Given the description of an element on the screen output the (x, y) to click on. 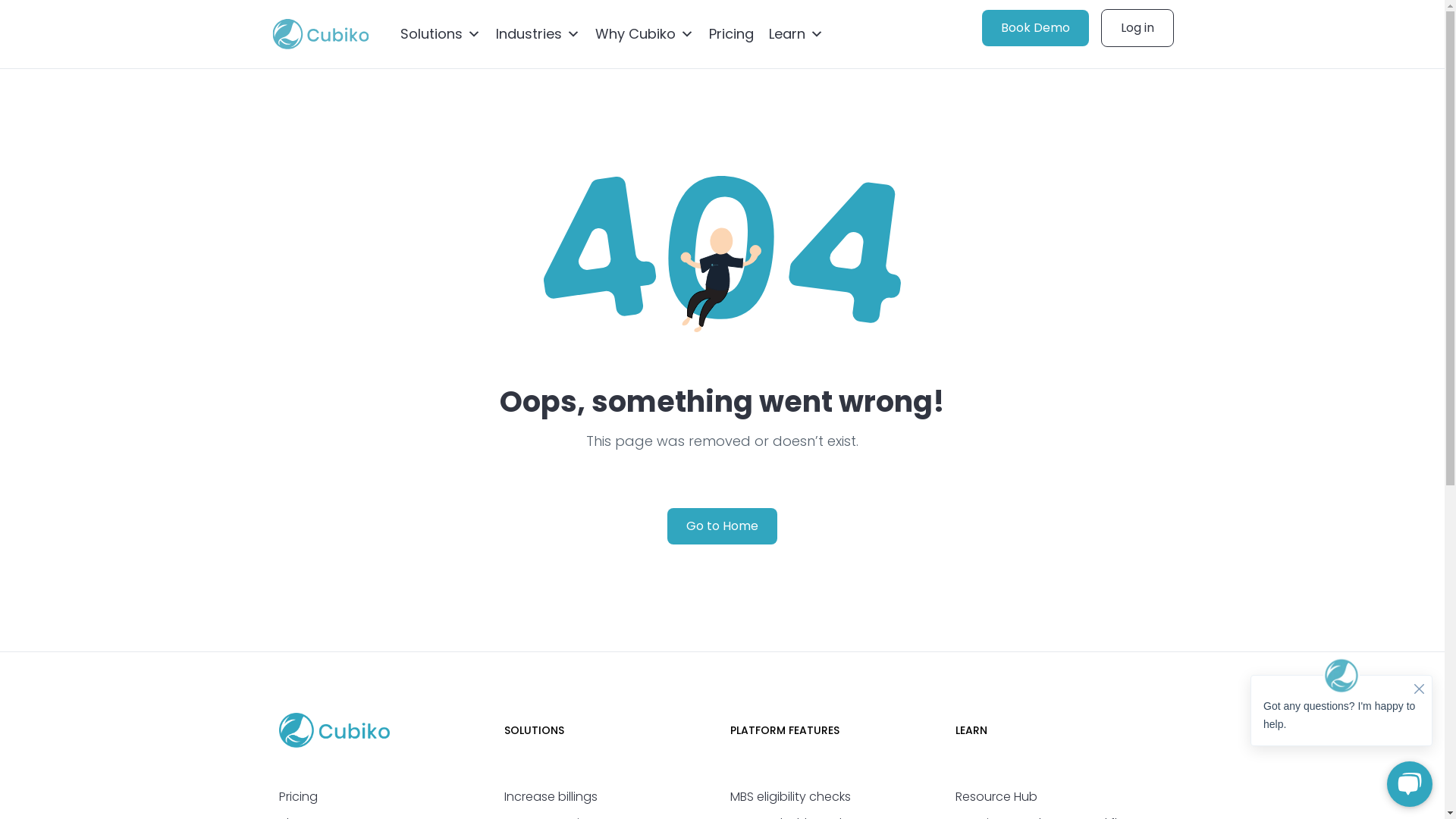
Solutions Element type: text (440, 33)
Learn Element type: text (796, 33)
Pricing Element type: text (298, 796)
Increase billings Element type: text (550, 796)
Book Demo Element type: text (1034, 27)
Go to Home Element type: text (722, 526)
Cubiko SVG logo Element type: hover (320, 33)
Why Cubiko Element type: text (643, 33)
Pricing Element type: text (730, 33)
Industries Element type: text (537, 33)
Resource Hub Element type: text (996, 796)
MBS eligibility checks Element type: text (789, 796)
Log in Element type: text (1137, 28)
